Given the description of an element on the screen output the (x, y) to click on. 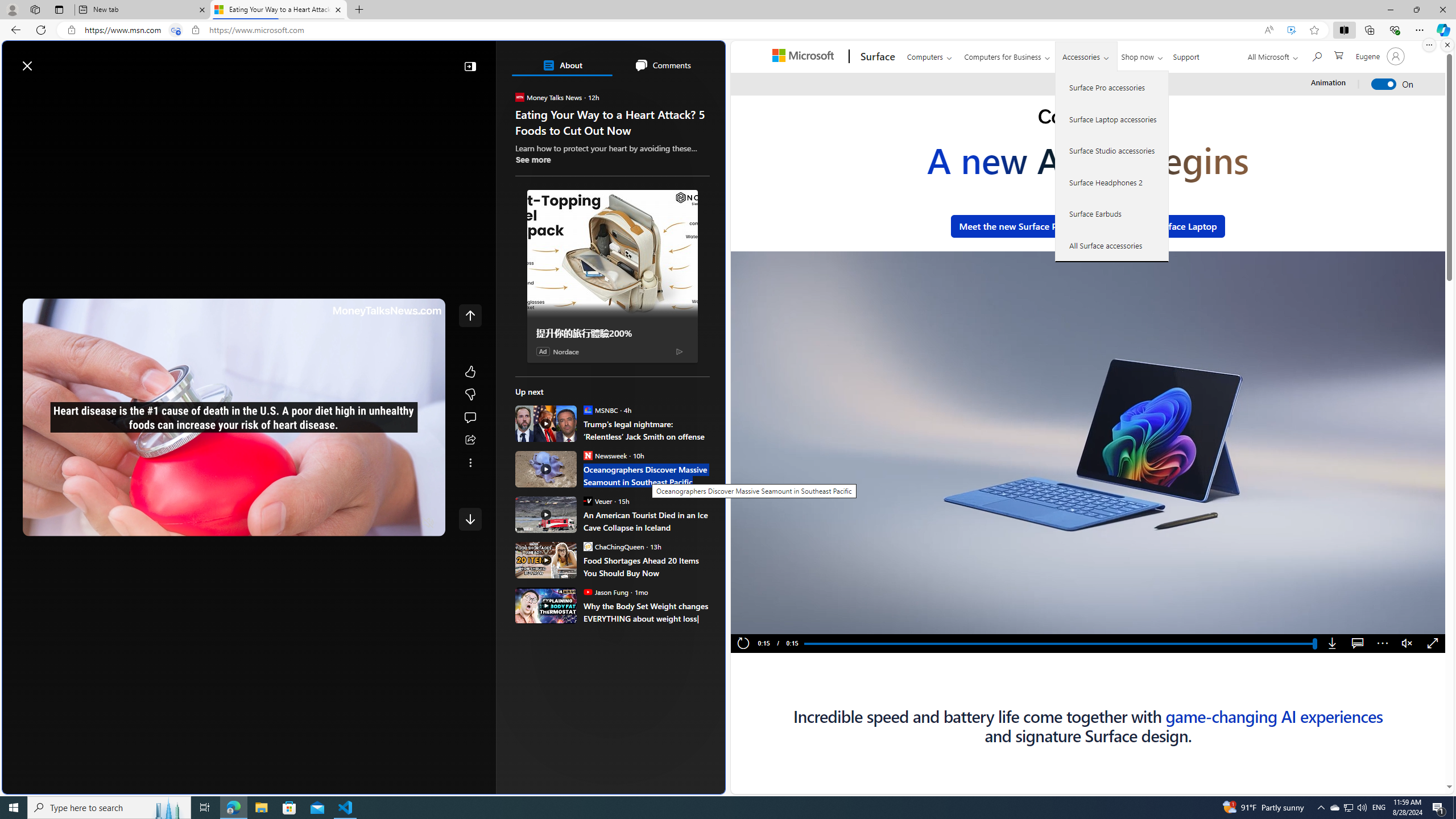
Download (1332, 643)
Surface Studio accessories (1112, 150)
More options. (1428, 45)
Surface Headphones 2 (1112, 182)
Surface Studio accessories (1112, 150)
Enhance video (1291, 29)
Surface Earbuds (1112, 214)
